Given the description of an element on the screen output the (x, y) to click on. 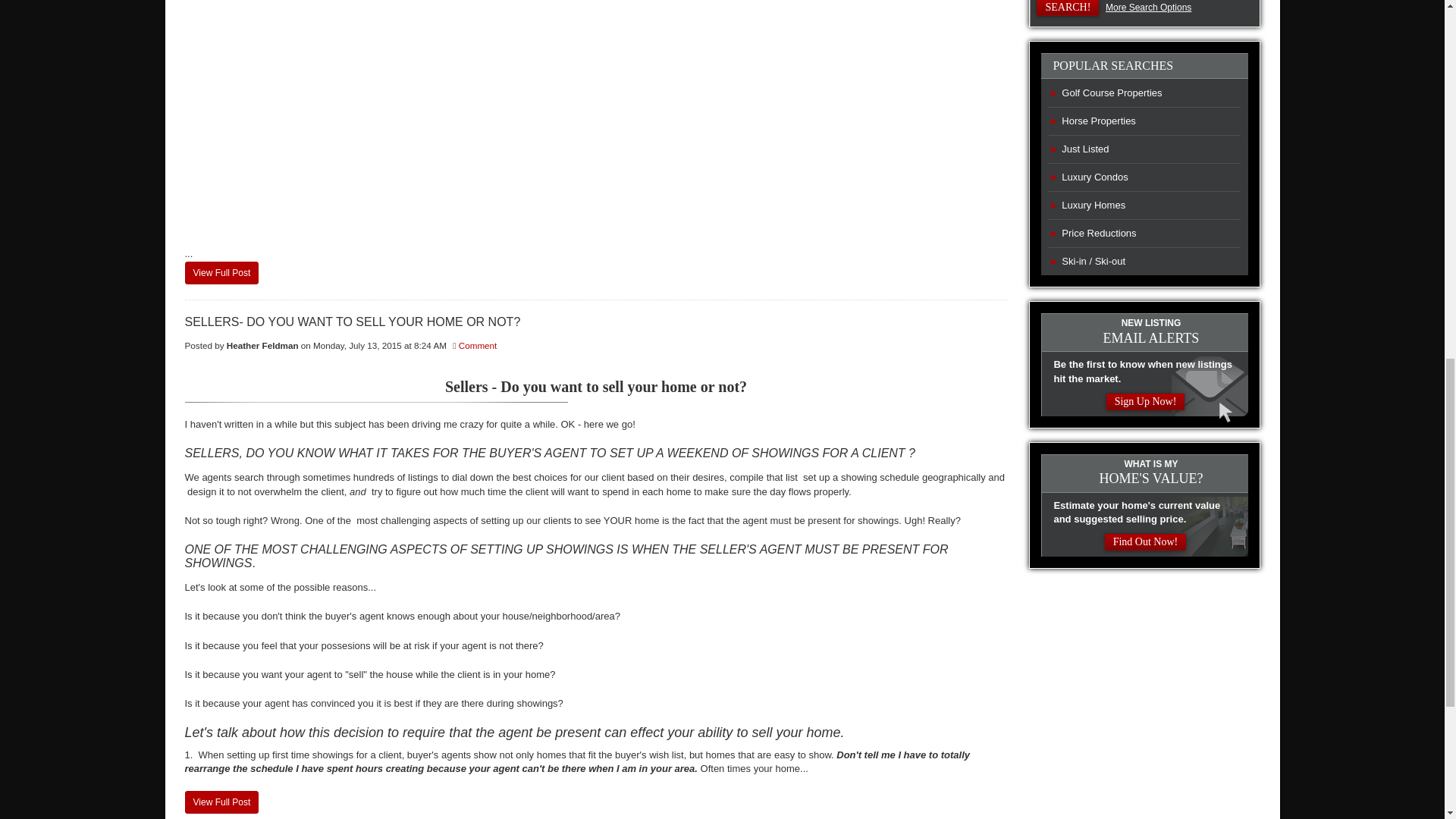
Sellers- Do you want to sell your home or not? (595, 322)
Sellers- Do you want to sell your home or not? (221, 802)
There is only one Park City Mountain (221, 272)
